Given the description of an element on the screen output the (x, y) to click on. 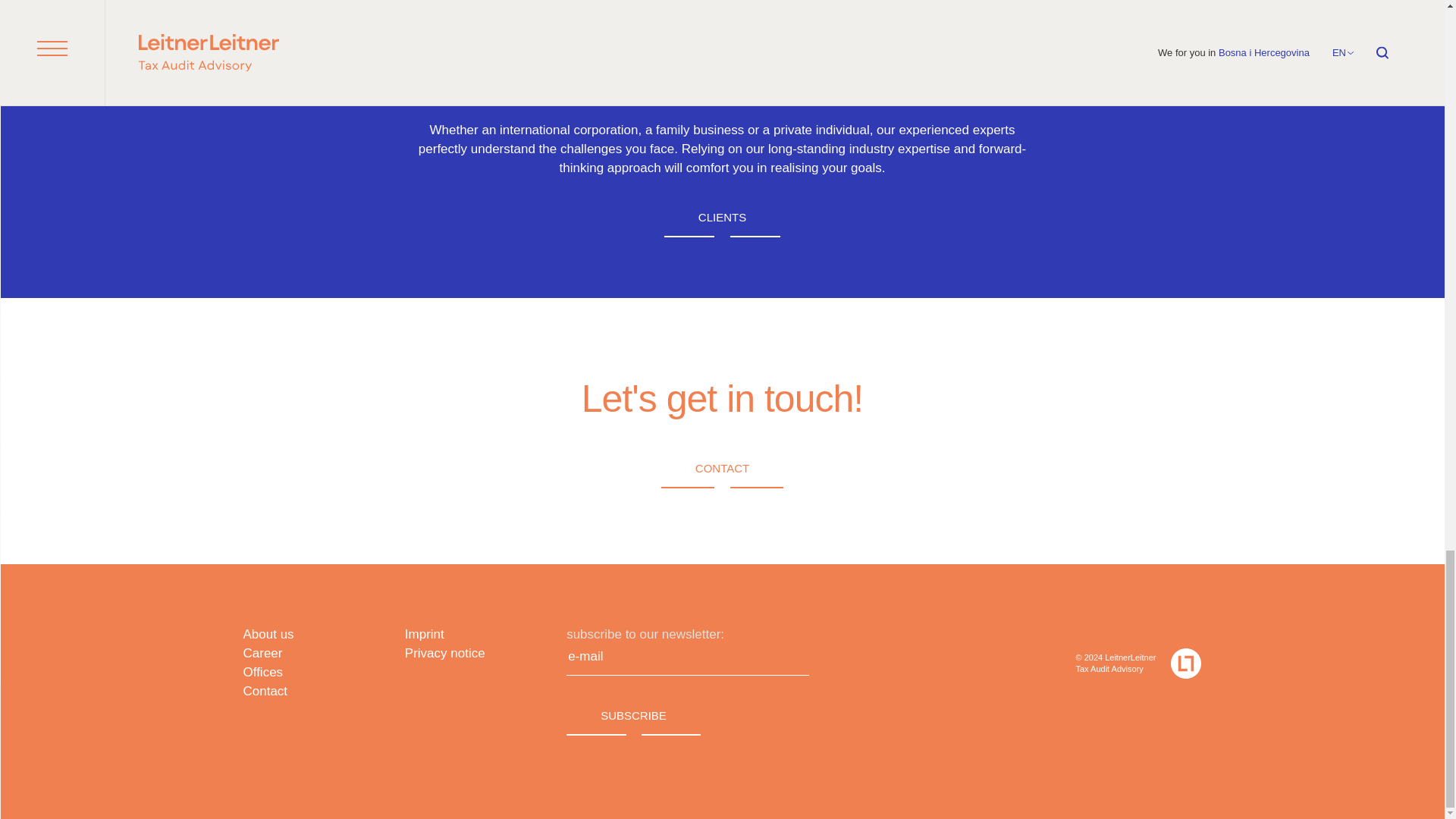
Clients (721, 218)
Contact (722, 469)
